Given the description of an element on the screen output the (x, y) to click on. 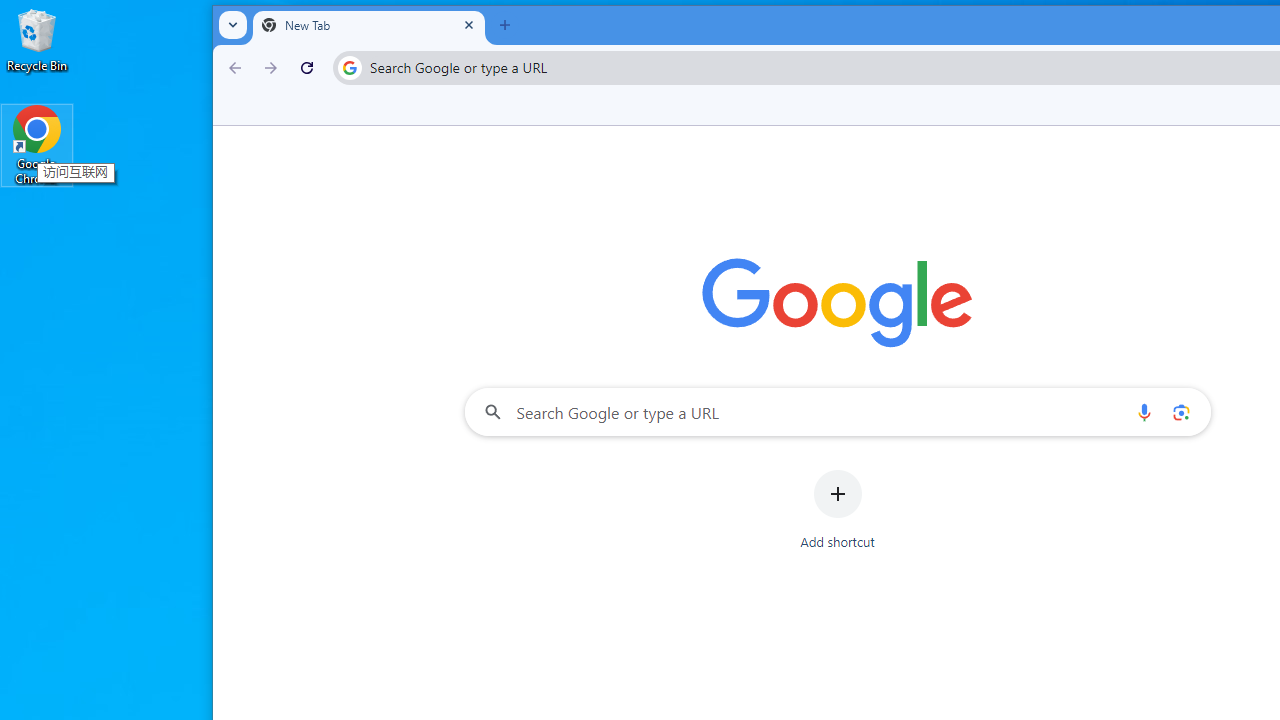
Google Chrome (37, 144)
Recycle Bin (37, 39)
